Given the description of an element on the screen output the (x, y) to click on. 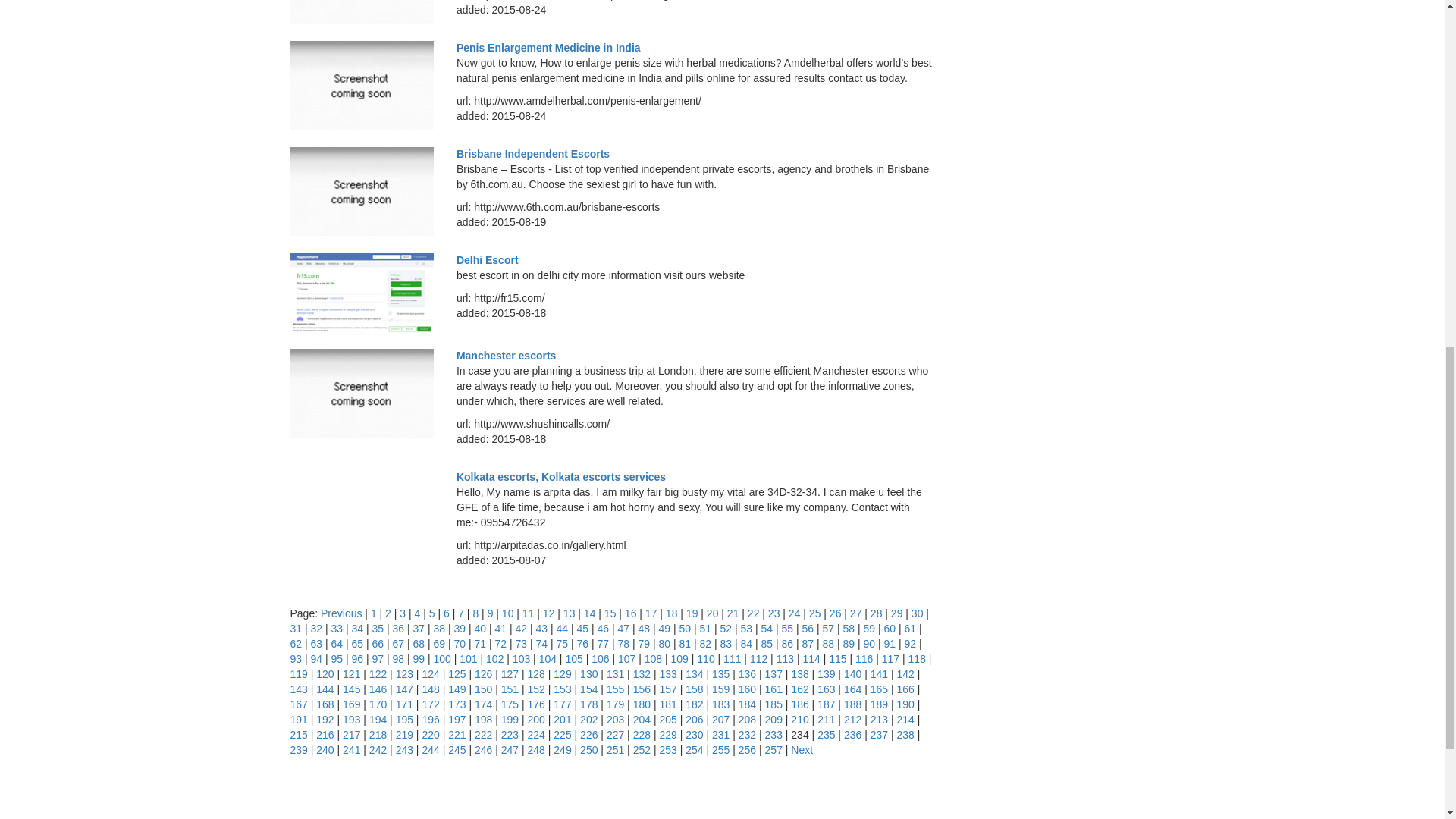
Manchester escorts (506, 355)
11 (528, 613)
10 (507, 613)
14 (589, 613)
Previous (340, 613)
15 (609, 613)
16 (630, 613)
Delhi Escort (487, 259)
Kolkata escorts, Kolkata escorts services (561, 476)
Brisbane Independent Escorts (533, 153)
13 (569, 613)
Penis Enlargement Medicine in India (548, 47)
12 (548, 613)
